Given the description of an element on the screen output the (x, y) to click on. 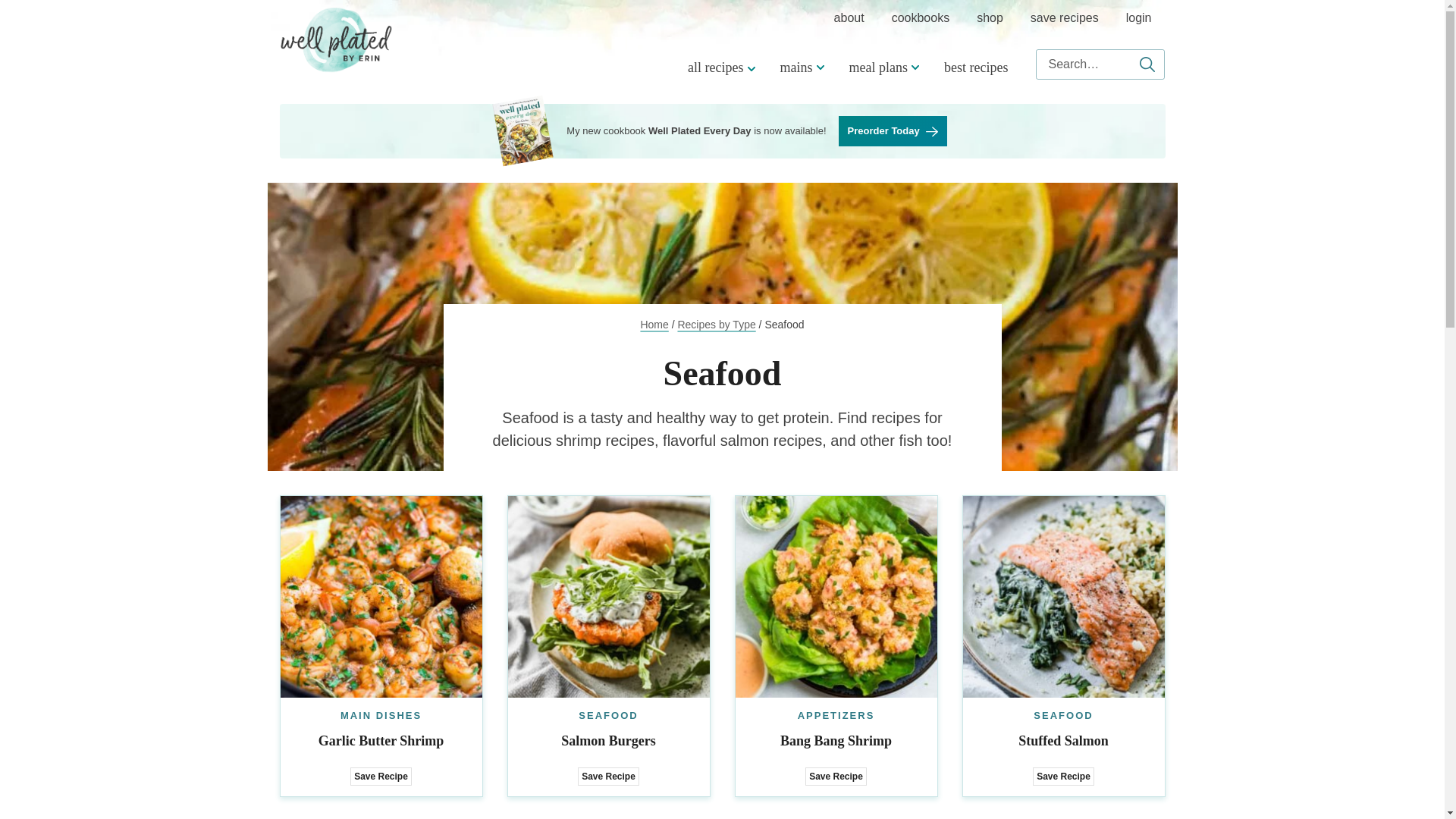
Well Plated by Erin (336, 39)
all recipes (719, 67)
Search for (1099, 63)
